Given the description of an element on the screen output the (x, y) to click on. 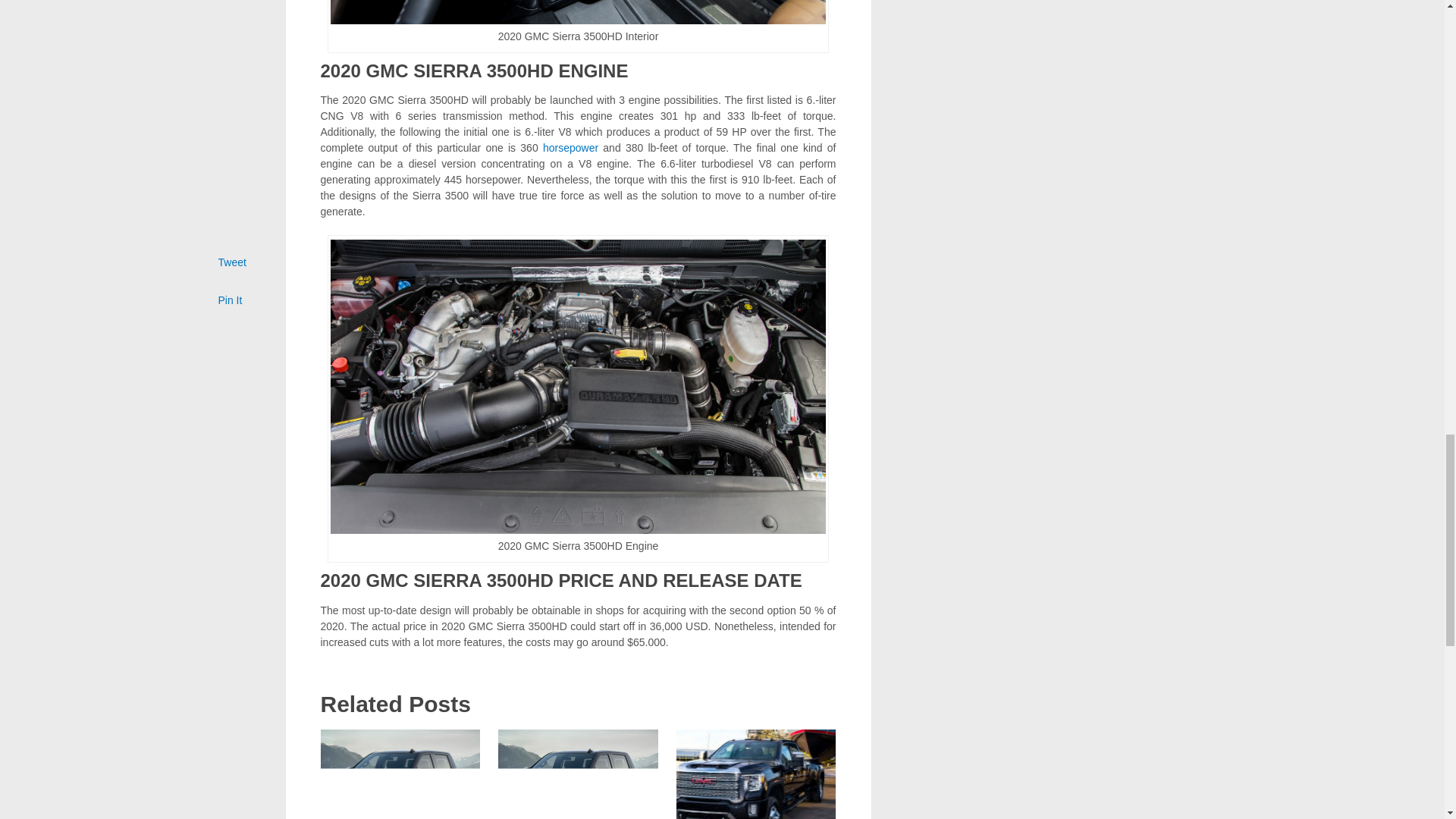
GMC Sierra 2019 Diesel, Interior, Price (577, 774)
horsepower (570, 147)
2019 GMC Sierra Interior, Tailgate, AT4 (400, 774)
